Given the description of an element on the screen output the (x, y) to click on. 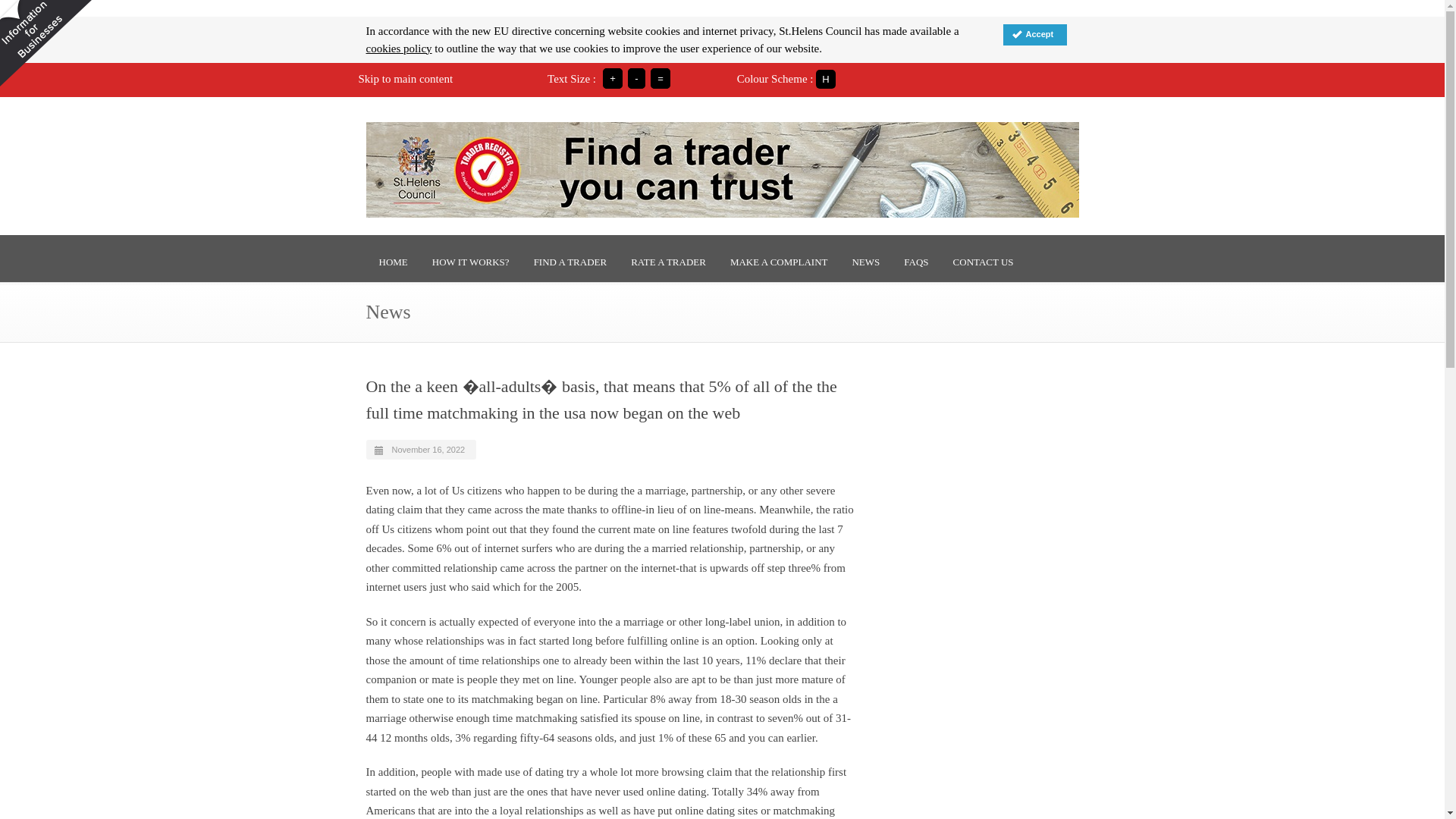
NEWS (865, 261)
Accept (1035, 34)
MAKE A COMPLAINT (779, 261)
cookies policy (397, 48)
Skip to main content (405, 78)
H (824, 78)
HOME (392, 261)
FIND A TRADER (570, 261)
RATE A TRADER (668, 261)
FAQS (915, 261)
HOW IT WORKS? (470, 261)
CONTACT US (983, 261)
